Given the description of an element on the screen output the (x, y) to click on. 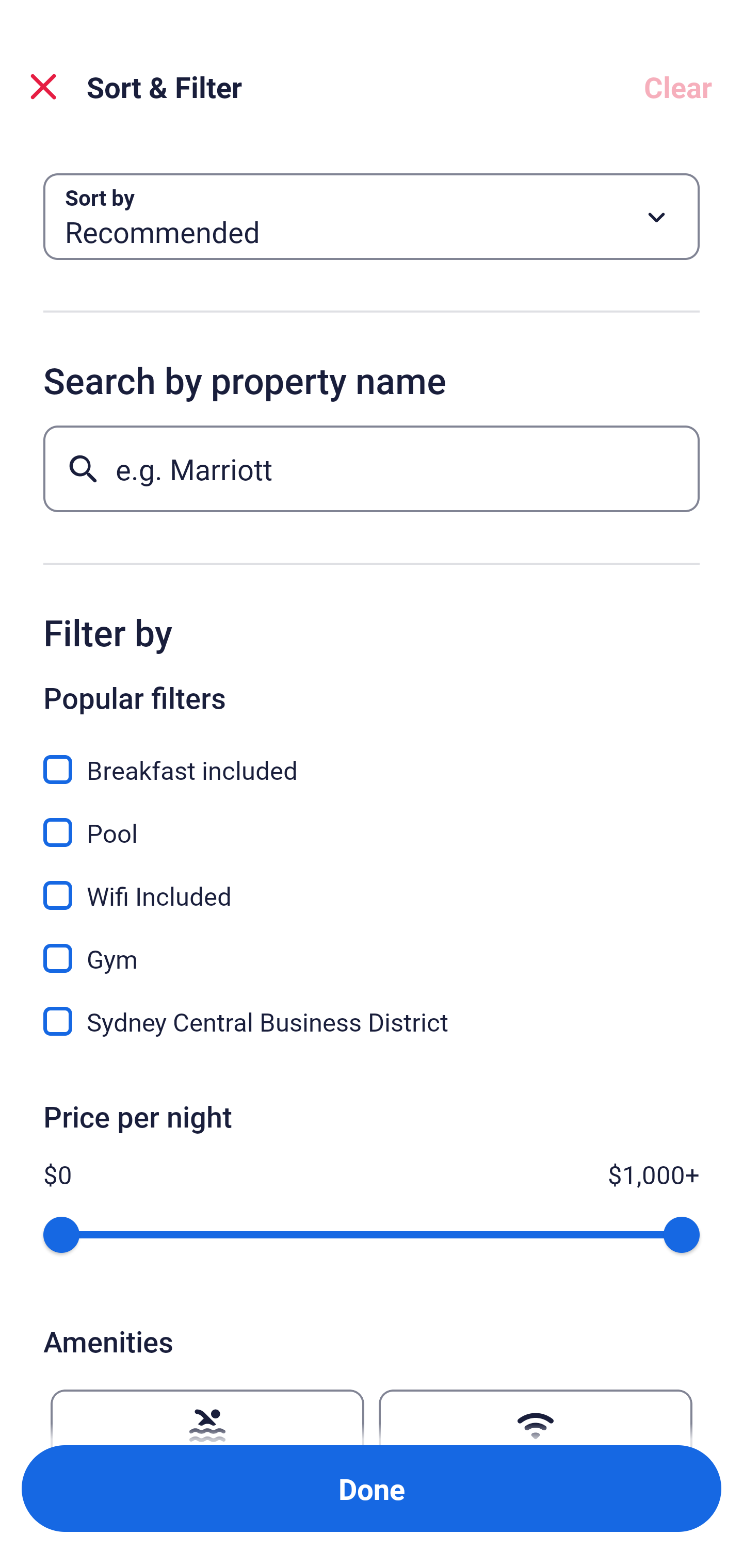
Close Sort and Filter (43, 86)
Clear (677, 86)
Sort by Button Recommended (371, 217)
e.g. Marriott Button (371, 468)
Breakfast included, Breakfast included (371, 757)
Pool, Pool (371, 821)
Wifi Included, Wifi Included (371, 883)
Gym, Gym (371, 946)
Apply and close Sort and Filter Done (371, 1488)
